Given the description of an element on the screen output the (x, y) to click on. 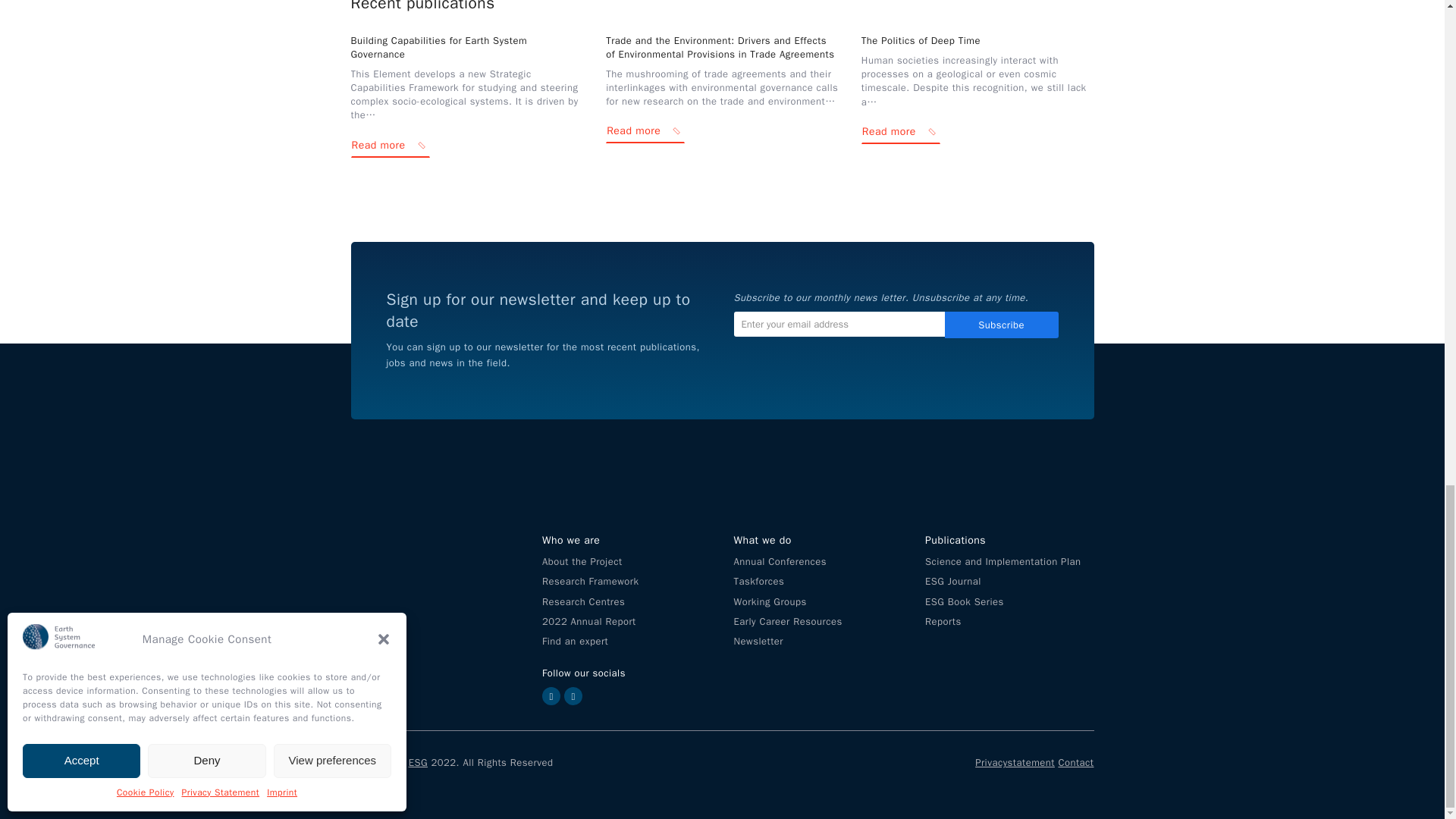
Subscribe (1001, 325)
